Given the description of an element on the screen output the (x, y) to click on. 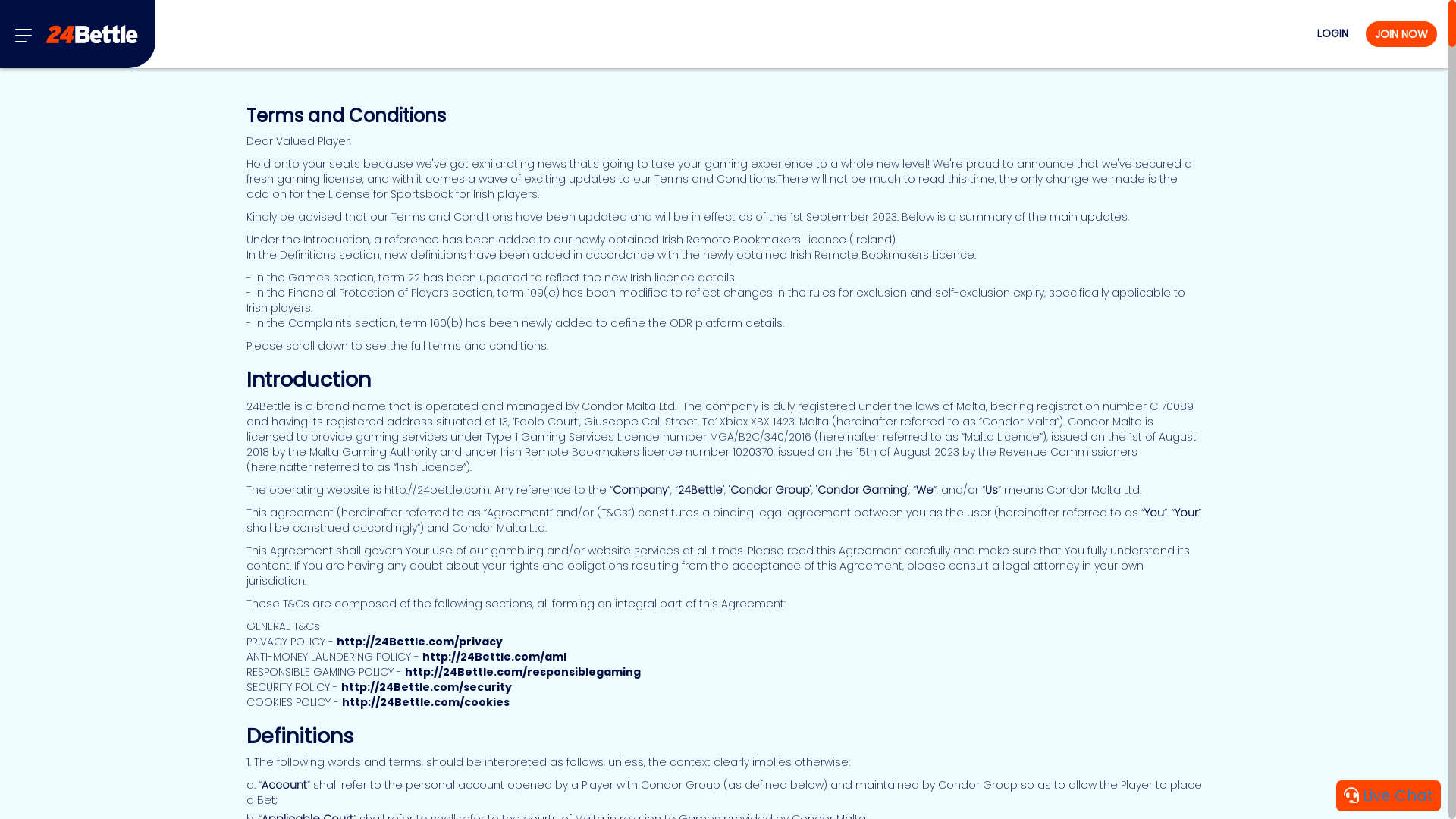
http://24Bettle.com/cookies Element type: text (425, 701)
http://24Bettle.com/security Element type: text (426, 686)
http://24Bettle.com/privacy Element type: text (419, 641)
24Bettle Element type: hover (91, 34)
http://24Bettle.com/responsiblegaming Element type: text (522, 671)
http://24Bettle.com/aml Element type: text (494, 656)
LOGIN Element type: text (1332, 33)
Live Chat Element type: text (1388, 795)
JOIN NOW Element type: text (1401, 34)
